Given the description of an element on the screen output the (x, y) to click on. 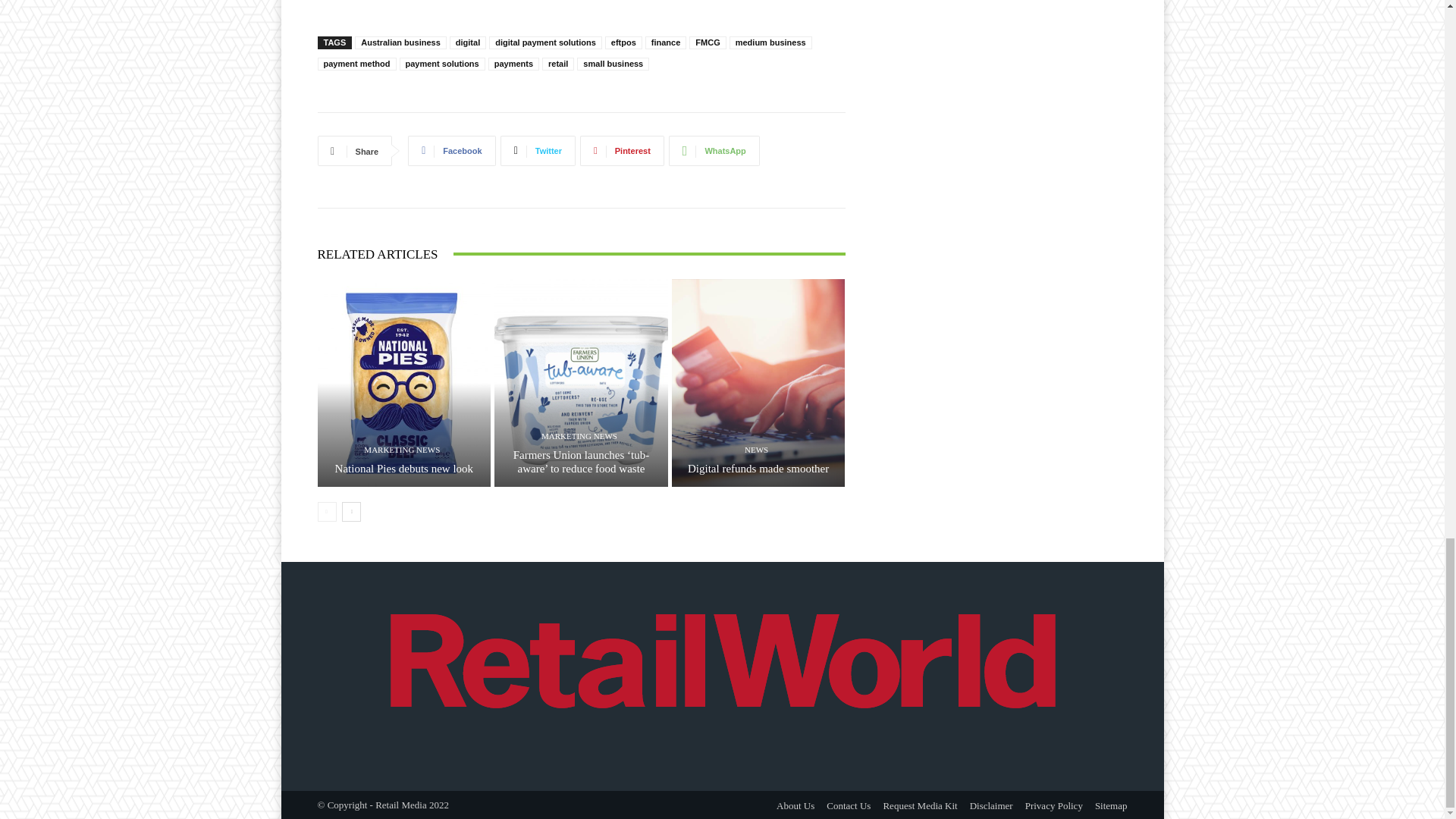
Facebook (451, 150)
Twitter (537, 150)
